Given the description of an element on the screen output the (x, y) to click on. 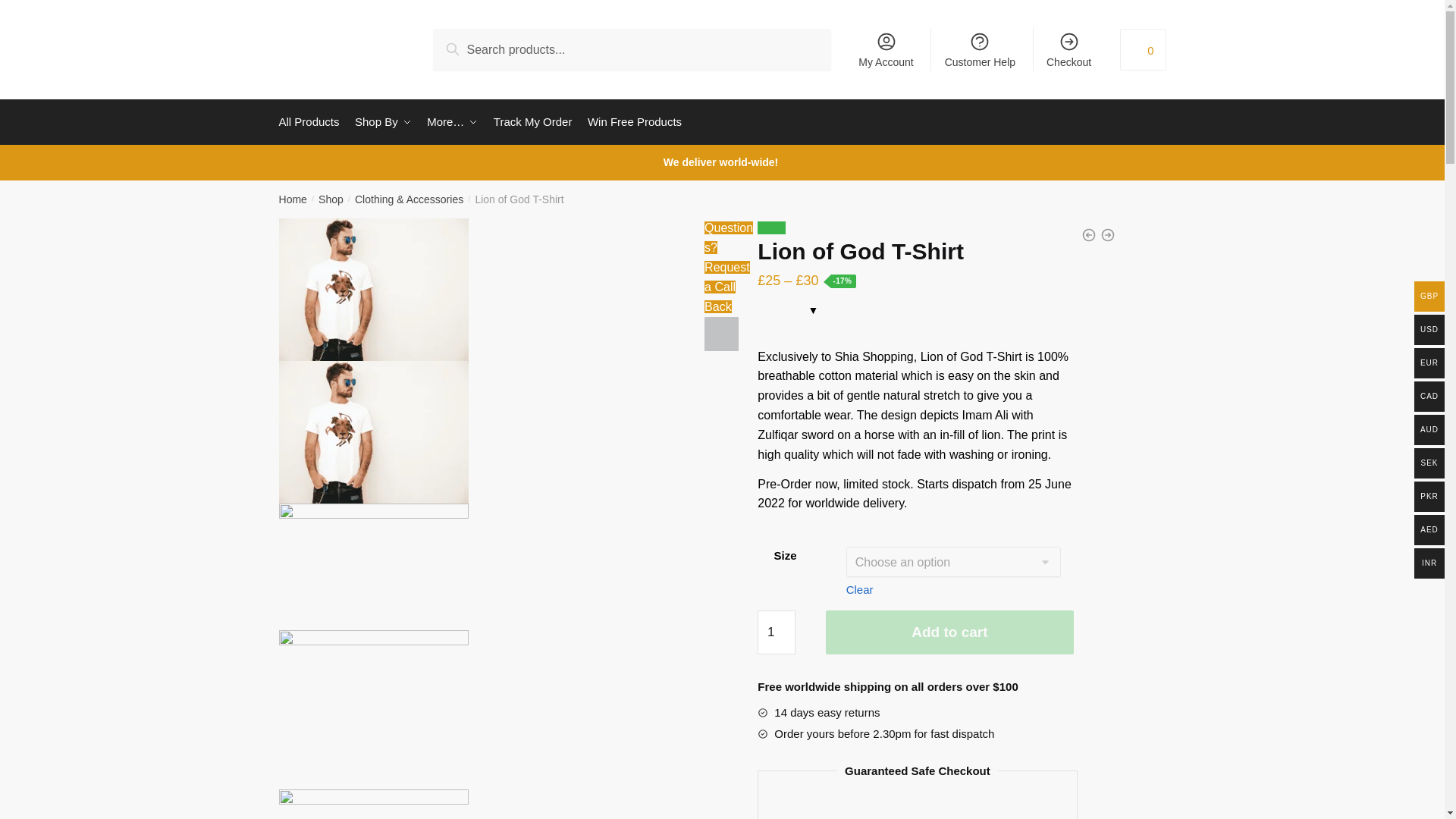
Customer Help (979, 49)
Shop By (382, 121)
View your shopping cart (1142, 49)
Please select your currency (787, 315)
Checkout (1068, 49)
All Products (312, 121)
Search (470, 45)
My Account (885, 49)
